Given the description of an element on the screen output the (x, y) to click on. 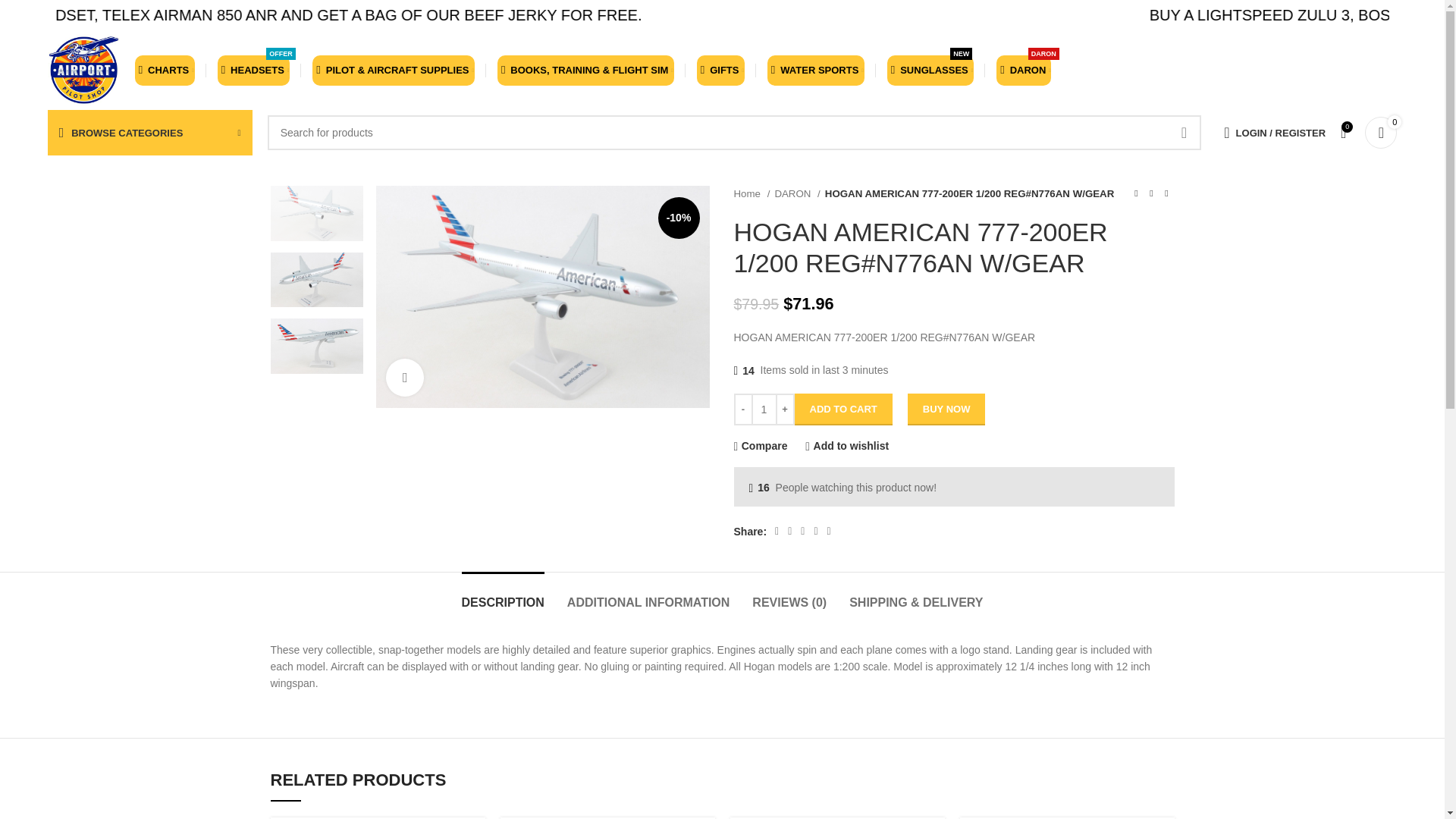
My account (1274, 132)
CHARTS (165, 69)
Search for products (734, 132)
Shopping cart (1380, 132)
